Given the description of an element on the screen output the (x, y) to click on. 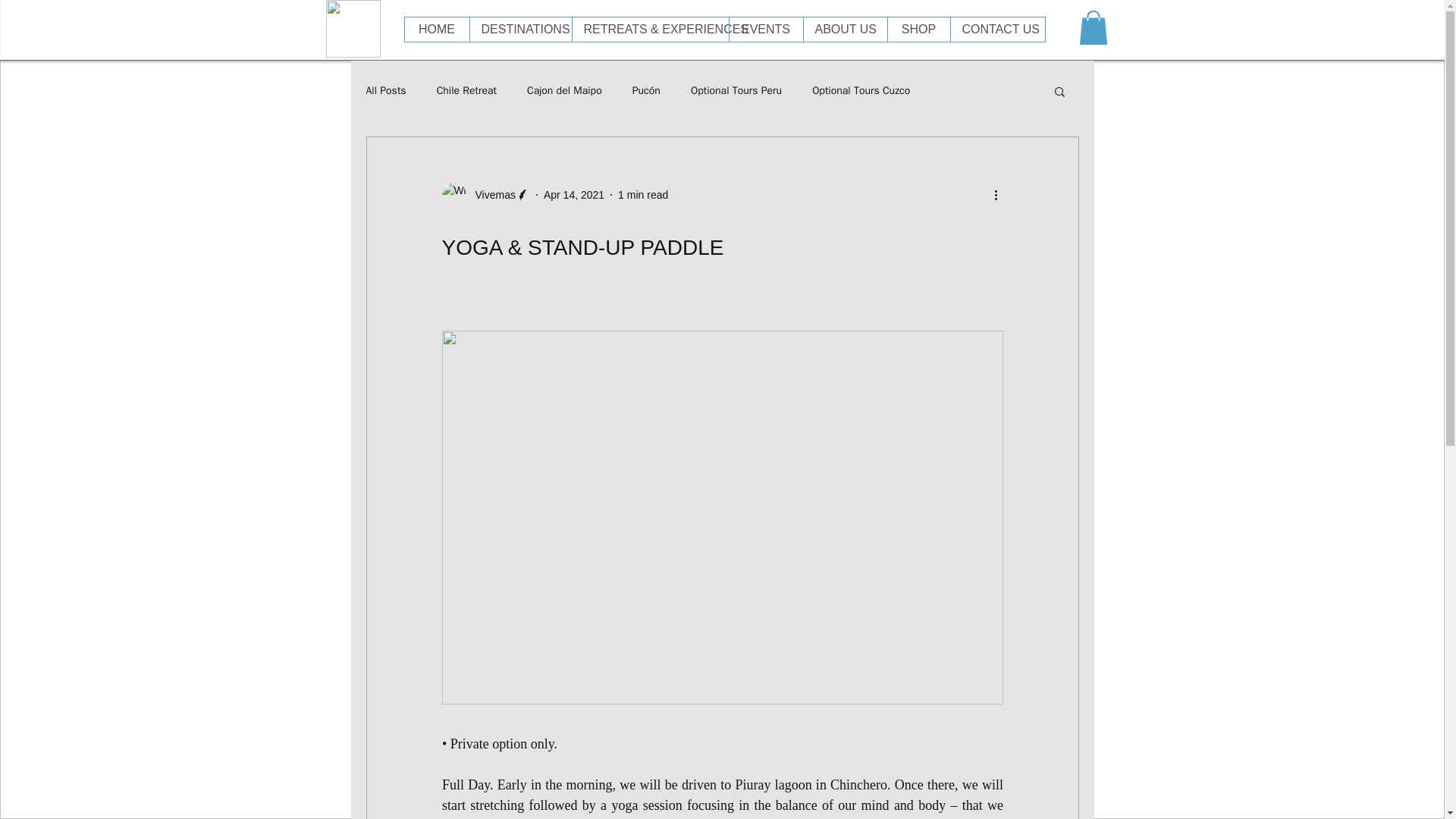
Optional Tours Cuzco (861, 90)
All Posts (385, 90)
Cajon del Maipo (564, 90)
Vivemas (485, 194)
Chile Retreat (466, 90)
Optional Tours Peru (735, 90)
HOME (436, 29)
1 min read (642, 194)
CONTACT US (996, 29)
DESTINATIONS (519, 29)
EVENTS (765, 29)
SHOP (918, 29)
Apr 14, 2021 (573, 194)
ABOUT US (844, 29)
Vivemas (490, 195)
